Given the description of an element on the screen output the (x, y) to click on. 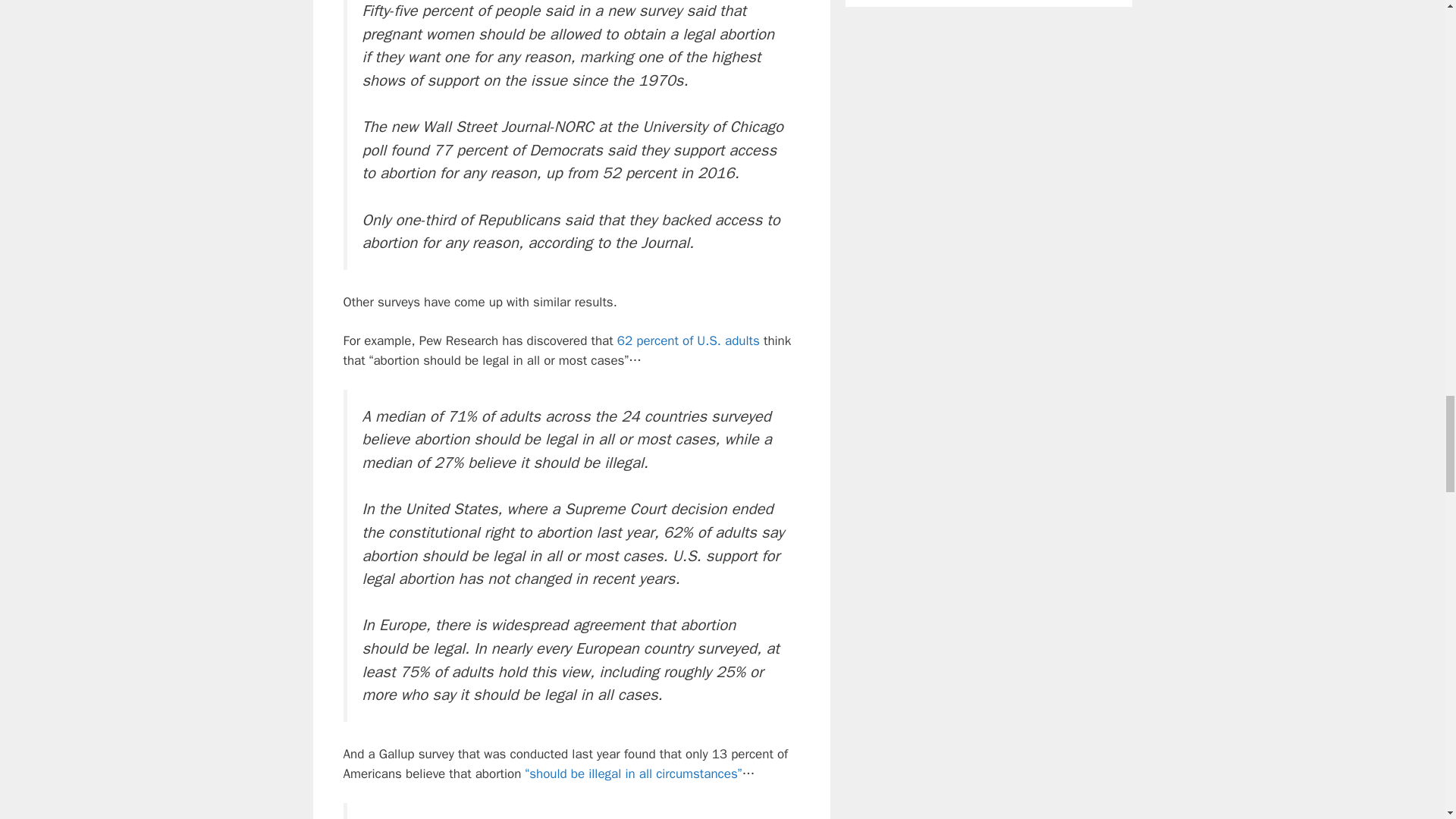
62 percent of U.S. adults (688, 340)
